Given the description of an element on the screen output the (x, y) to click on. 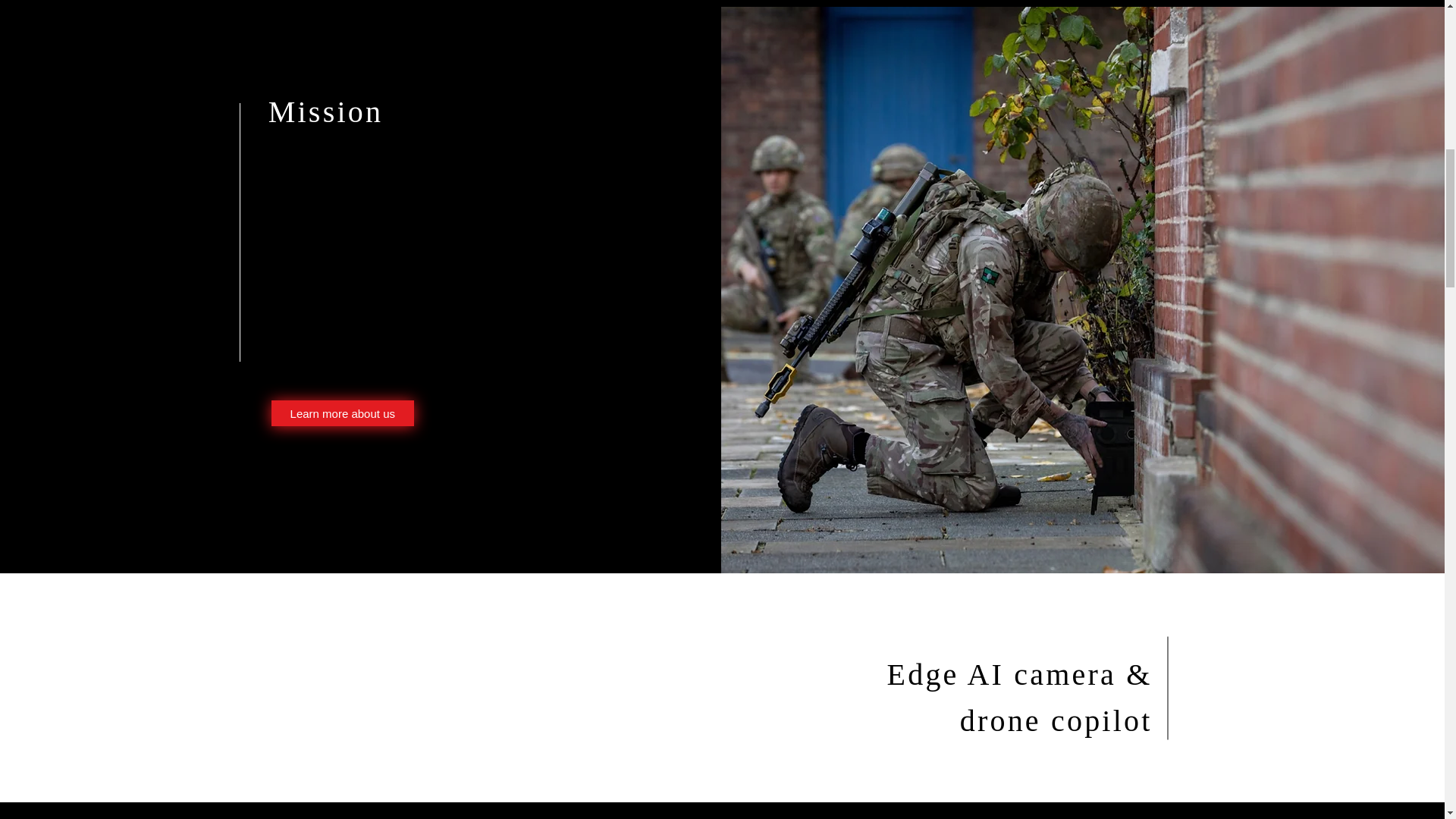
Learn more about us (341, 412)
